Given the description of an element on the screen output the (x, y) to click on. 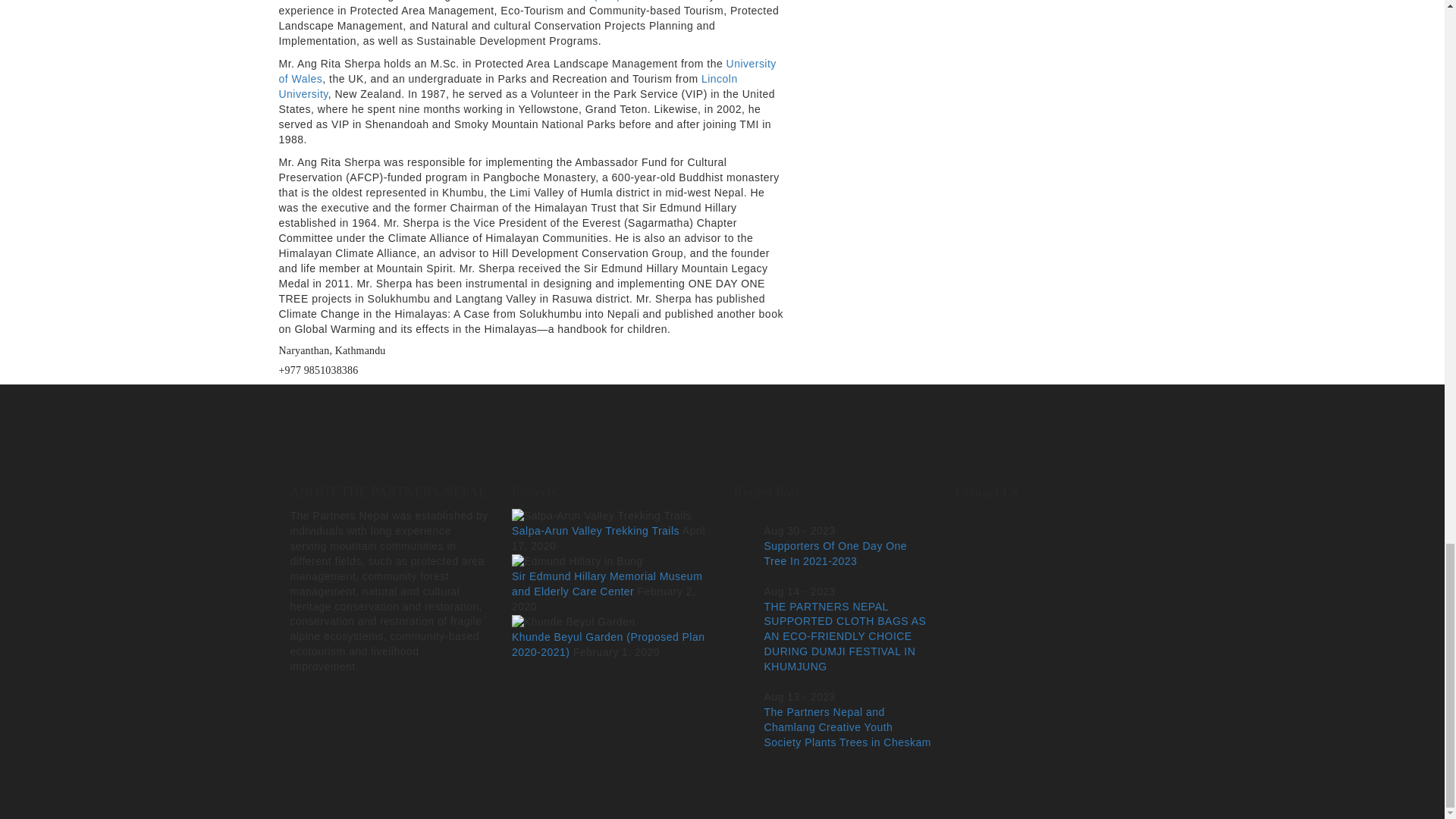
Sir Edmund Hillary Memorial Museum and Elderly Care Center (606, 583)
Supporters Of One Day One Tree In 2021-2023 (835, 553)
Supporters Of One Day One Tree In 2021-2023 (835, 553)
Salpa-Arun Valley Trekking Trails (595, 530)
Sir Edmund Hillary Memorial Museum and Elderly Care Center 3 (577, 561)
Lincoln University (508, 85)
Salpa-Arun Valley Trekking Trails 2 (601, 516)
University of Wales (527, 71)
